Given the description of an element on the screen output the (x, y) to click on. 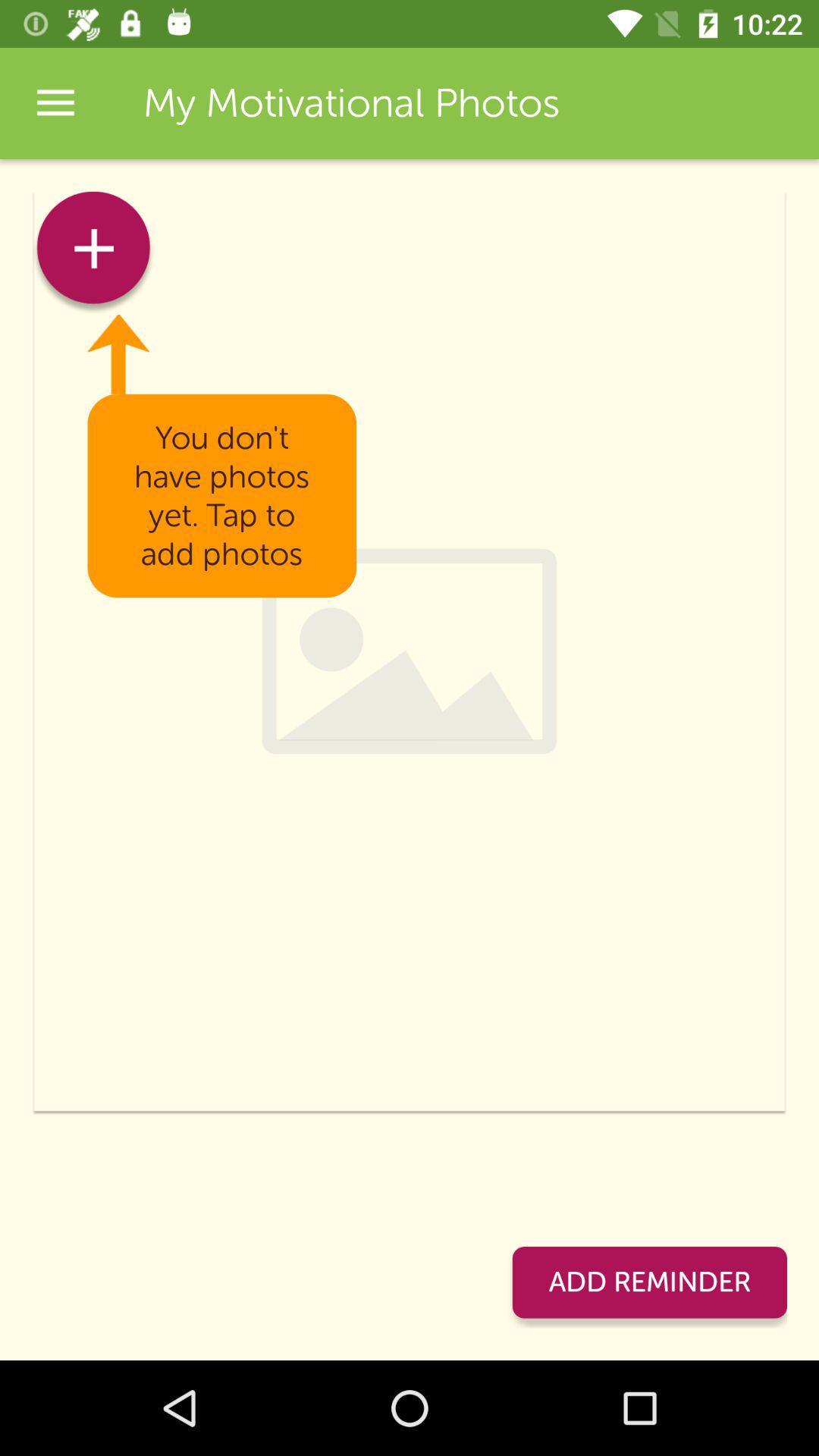
scroll until the add reminder item (649, 1282)
